Given the description of an element on the screen output the (x, y) to click on. 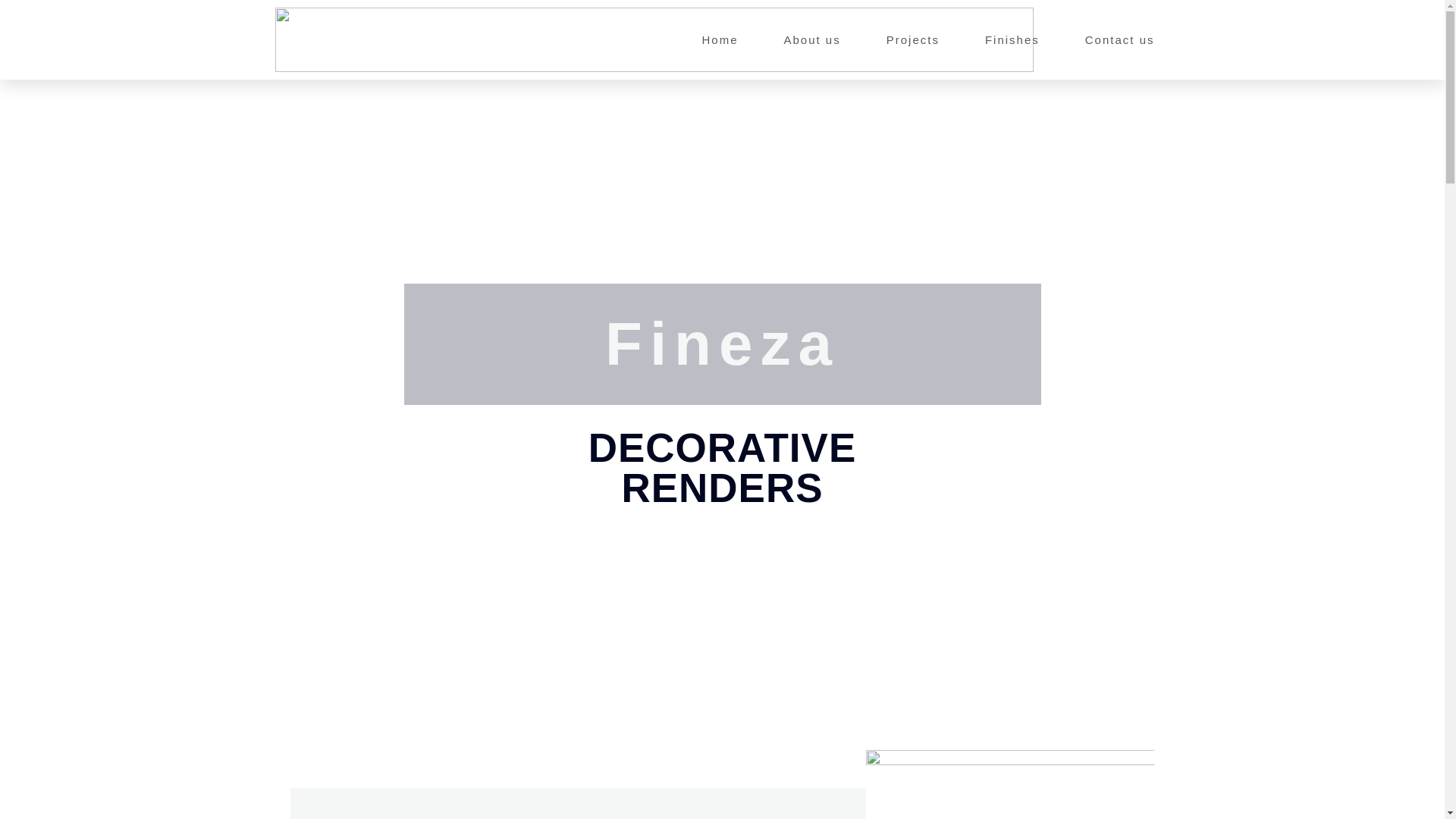
Home (719, 40)
Finishes (1011, 40)
About us (812, 40)
Projects (913, 40)
Contact us (1119, 40)
